Given the description of an element on the screen output the (x, y) to click on. 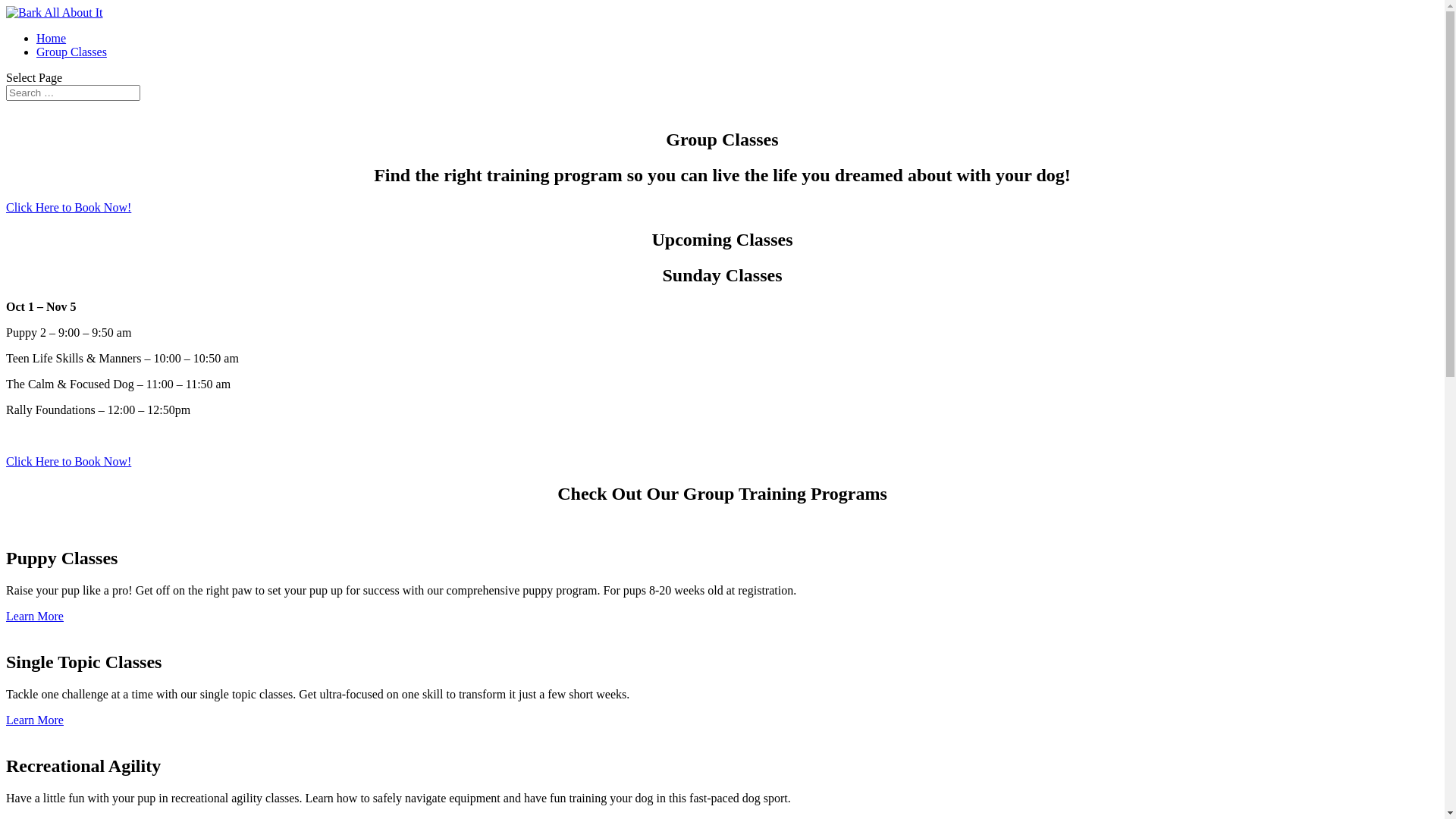
Learn More Element type: text (34, 615)
Learn More Element type: text (34, 719)
Click Here to Book Now! Element type: text (68, 461)
Group Classes Element type: text (71, 51)
Home Element type: text (50, 37)
Click Here to Book Now! Element type: text (68, 206)
Search for: Element type: hover (73, 92)
